Given the description of an element on the screen output the (x, y) to click on. 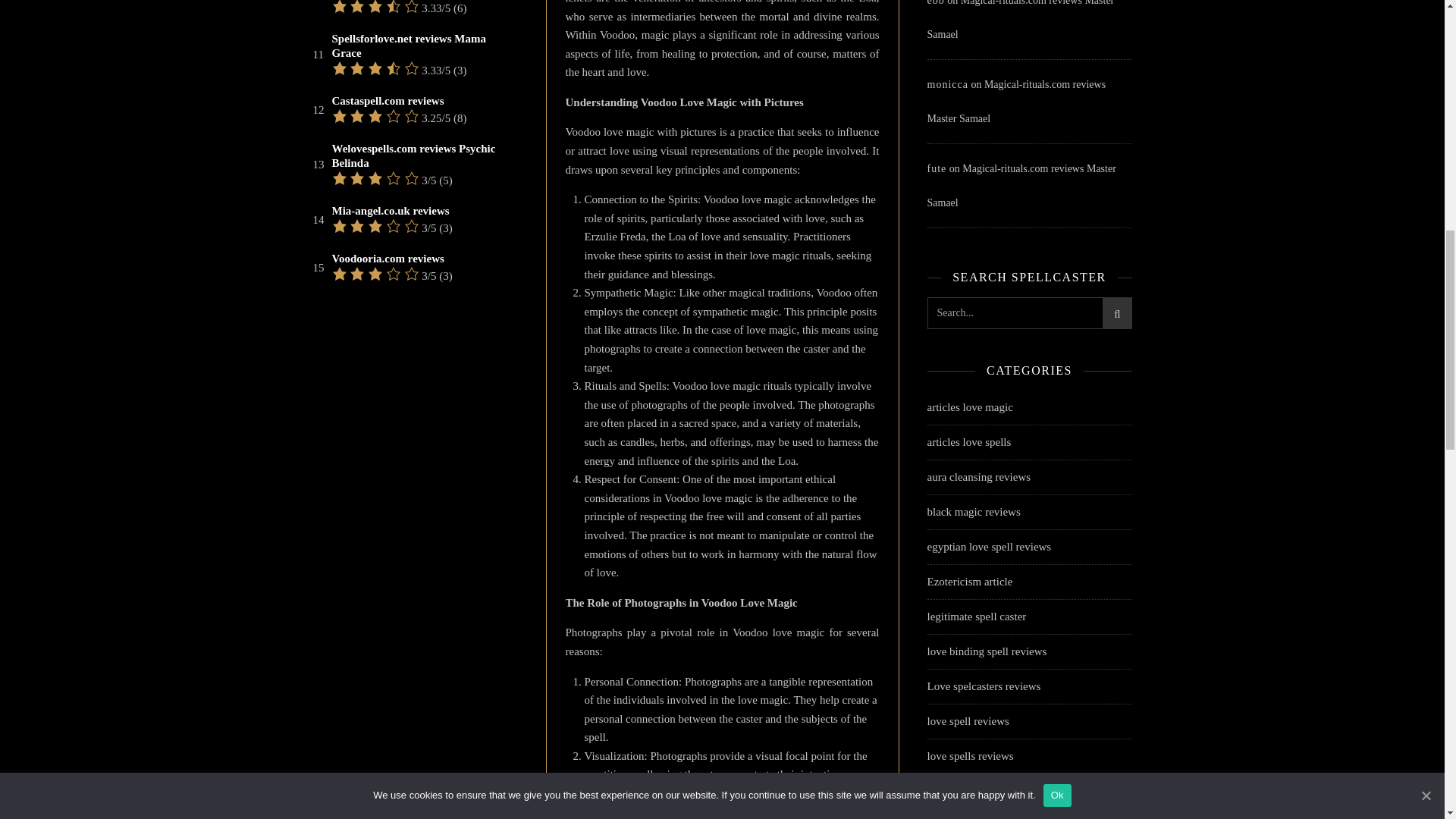
Welovespells.com reviews Psychic Belinda (423, 155)
Magical-rituals.com reviews Master Samael (1019, 20)
Mia-angel.co.uk reviews (390, 210)
Magical-rituals.com reviews Master Samael (1015, 101)
Castaspell.com reviews (387, 101)
articles love magic (968, 407)
Magical-rituals.com reviews Master Samael (1020, 185)
Spellsforlove.net reviews Mama Grace (423, 45)
Voodooria.com reviews (387, 258)
